Given the description of an element on the screen output the (x, y) to click on. 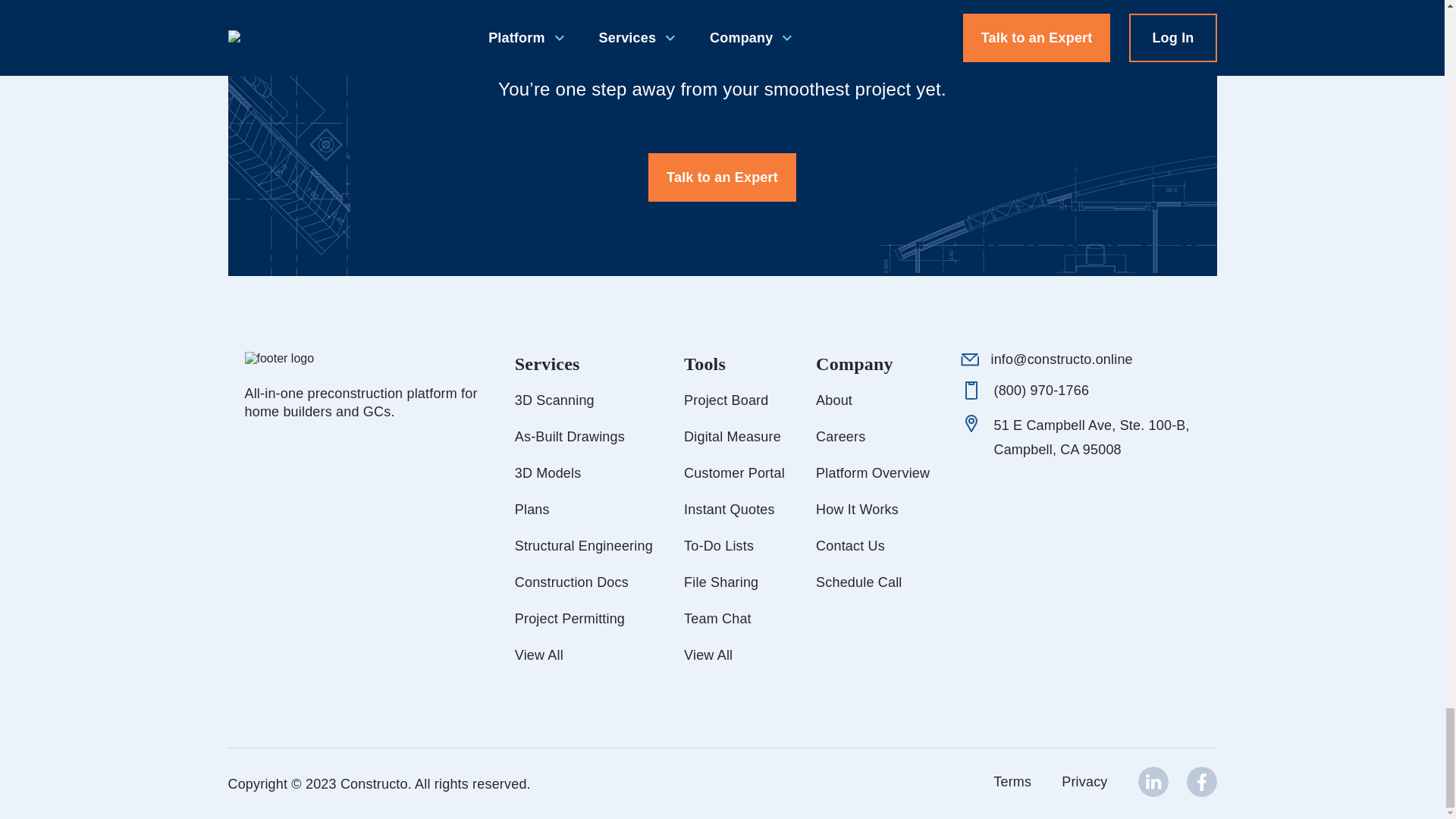
Structural Engineering (583, 545)
Project Permitting (569, 618)
Construction Docs (571, 582)
3D Scanning (554, 400)
As-Built Drawings (569, 436)
Plans (532, 509)
3D Models (547, 473)
Talk to an Expert (721, 177)
